Given the description of an element on the screen output the (x, y) to click on. 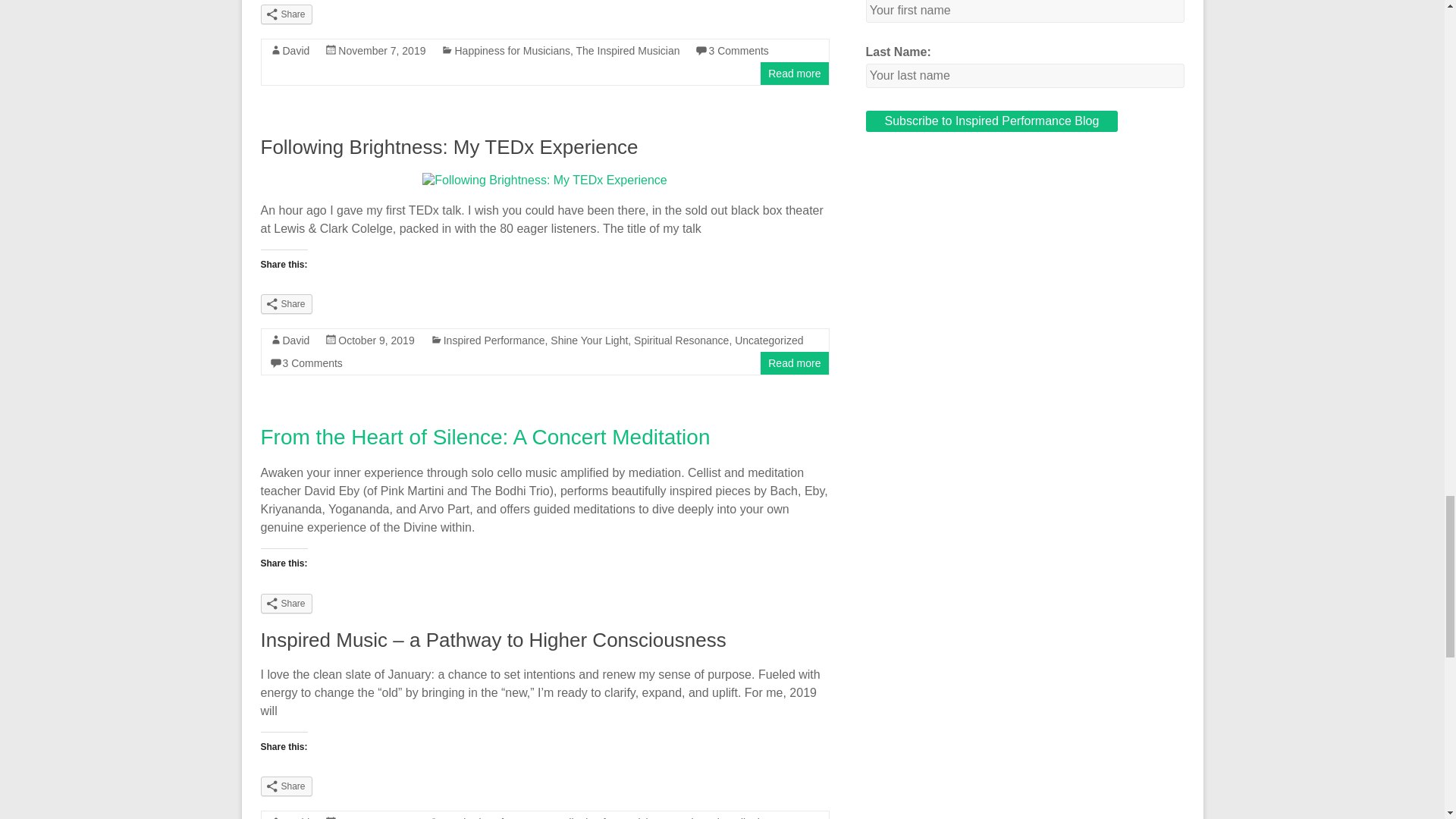
Subscribe to Inspired Performance Blog (992, 120)
